Given the description of an element on the screen output the (x, y) to click on. 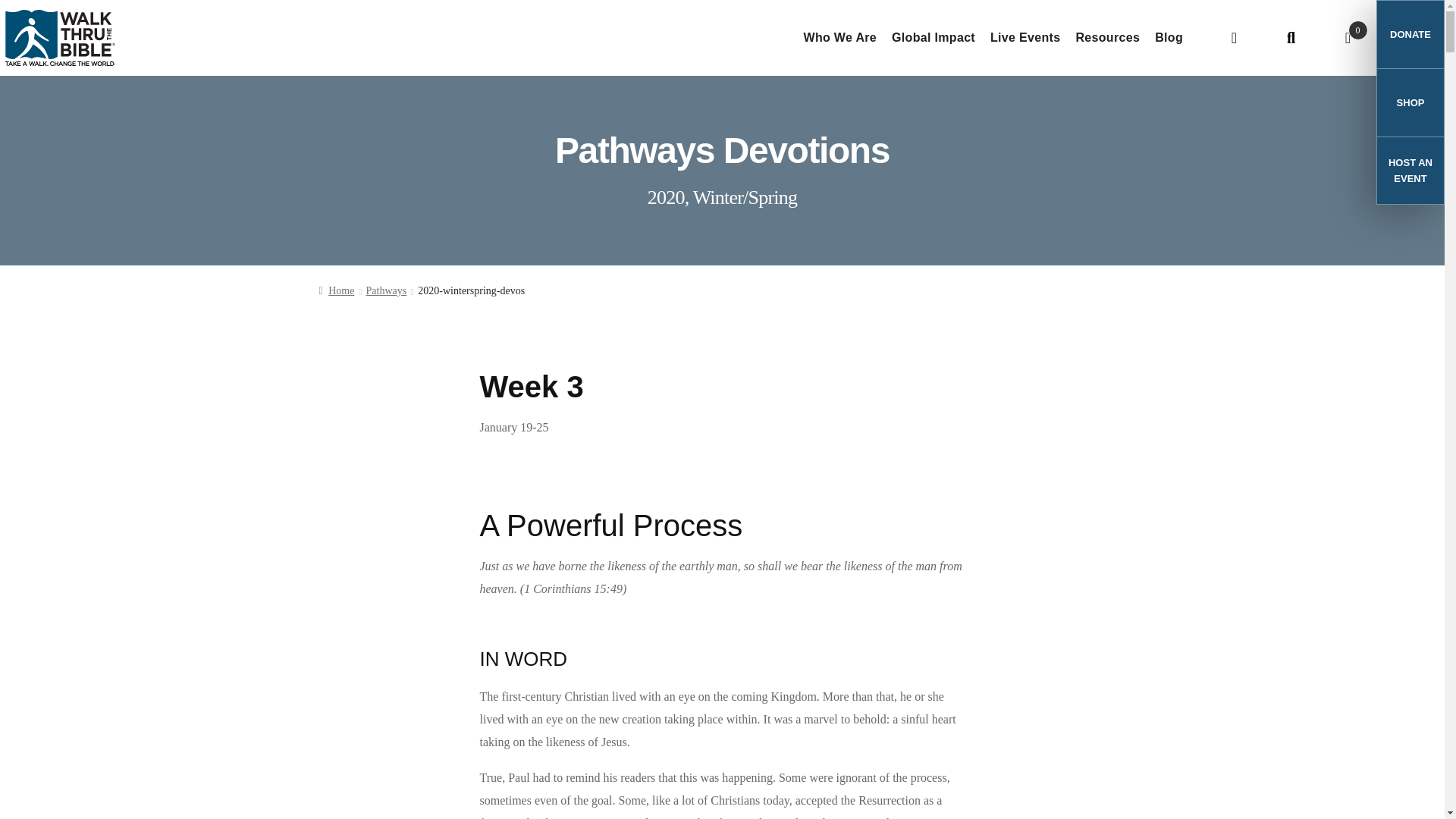
My Account (1233, 37)
Global Impact (933, 38)
View your shopping cart (1347, 37)
HOST AN EVENT (1410, 170)
Home (336, 290)
Resources (1107, 38)
Who We Are (840, 38)
Pathways (386, 290)
0 (1347, 37)
Search (1290, 37)
